Given the description of an element on the screen output the (x, y) to click on. 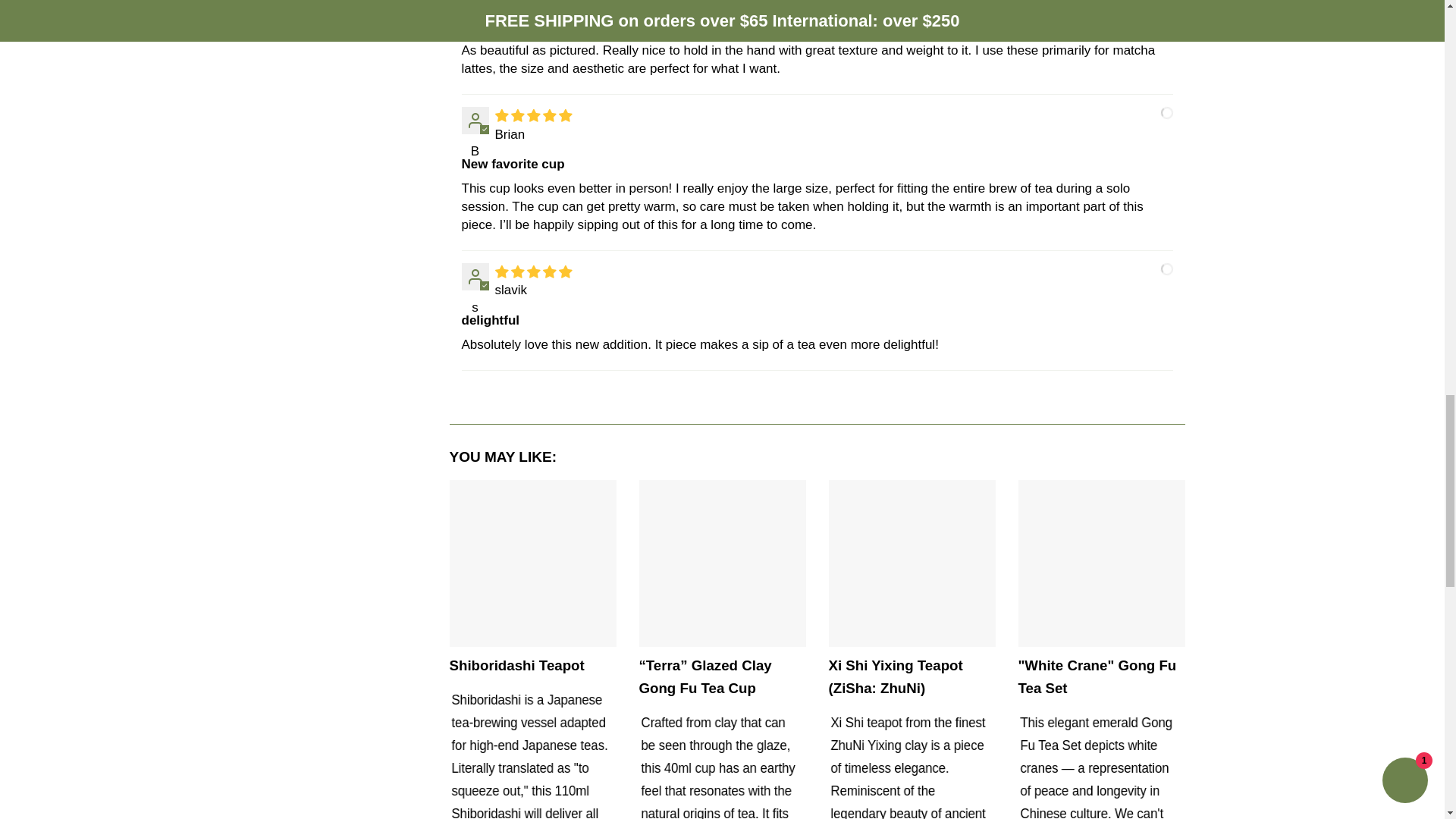
"White Crane" Gong Fu Tea Set (1101, 563)
Shiboridashi Teapot (531, 563)
